Given the description of an element on the screen output the (x, y) to click on. 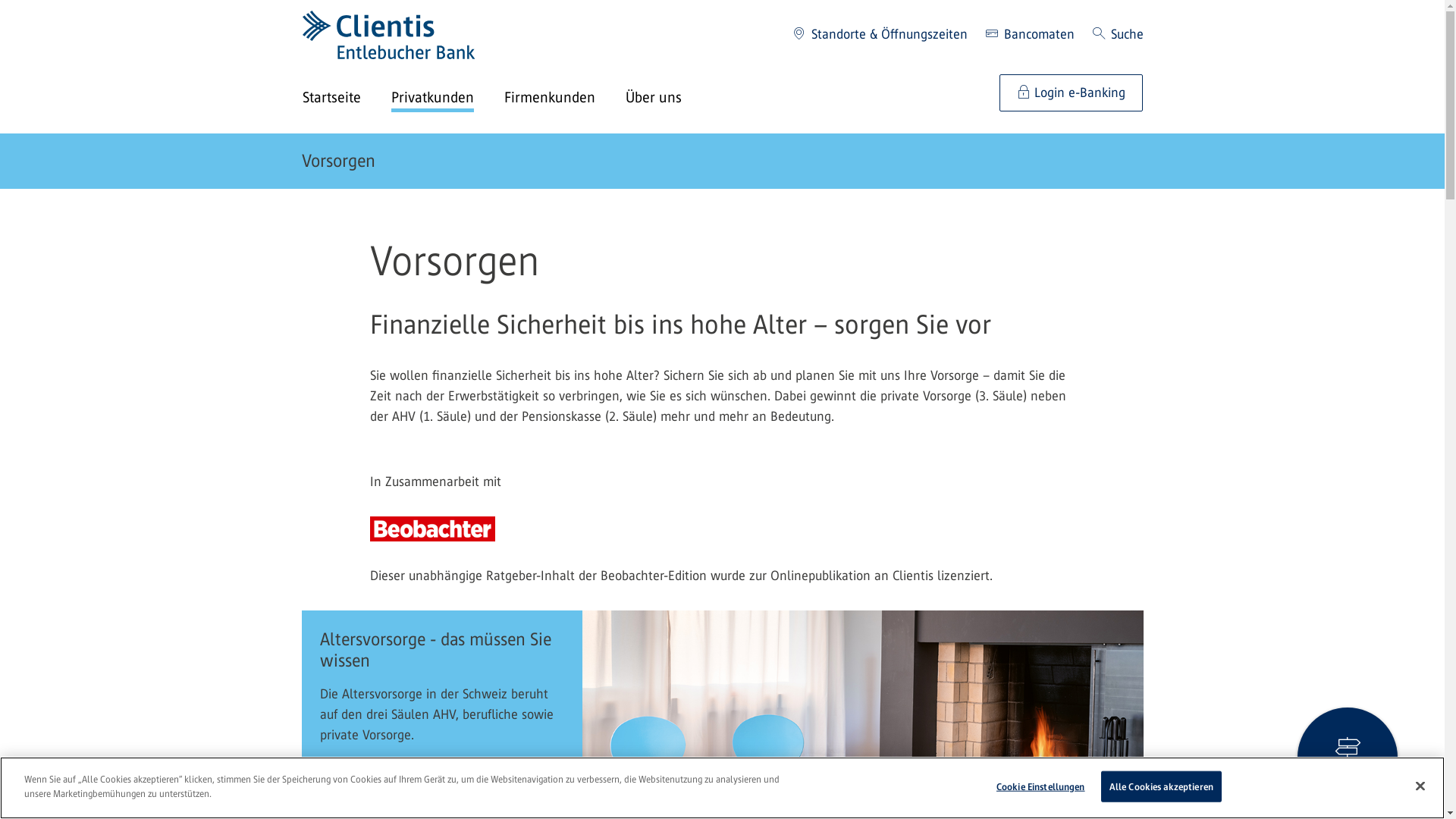
Cookie Einstellungen Element type: text (1040, 786)
Suche Element type: text (1117, 34)
Bancomaten Element type: text (1029, 34)
Firmenkunden Element type: text (563, 98)
Kontakt Element type: text (1347, 757)
Startseite Element type: text (345, 98)
Login e-Banking Element type: text (1070, 92)
Vorsorgen Element type: text (338, 160)
Alle Cookies akzeptieren Element type: text (1161, 787)
Privatkunden Element type: text (447, 98)
